Given the description of an element on the screen output the (x, y) to click on. 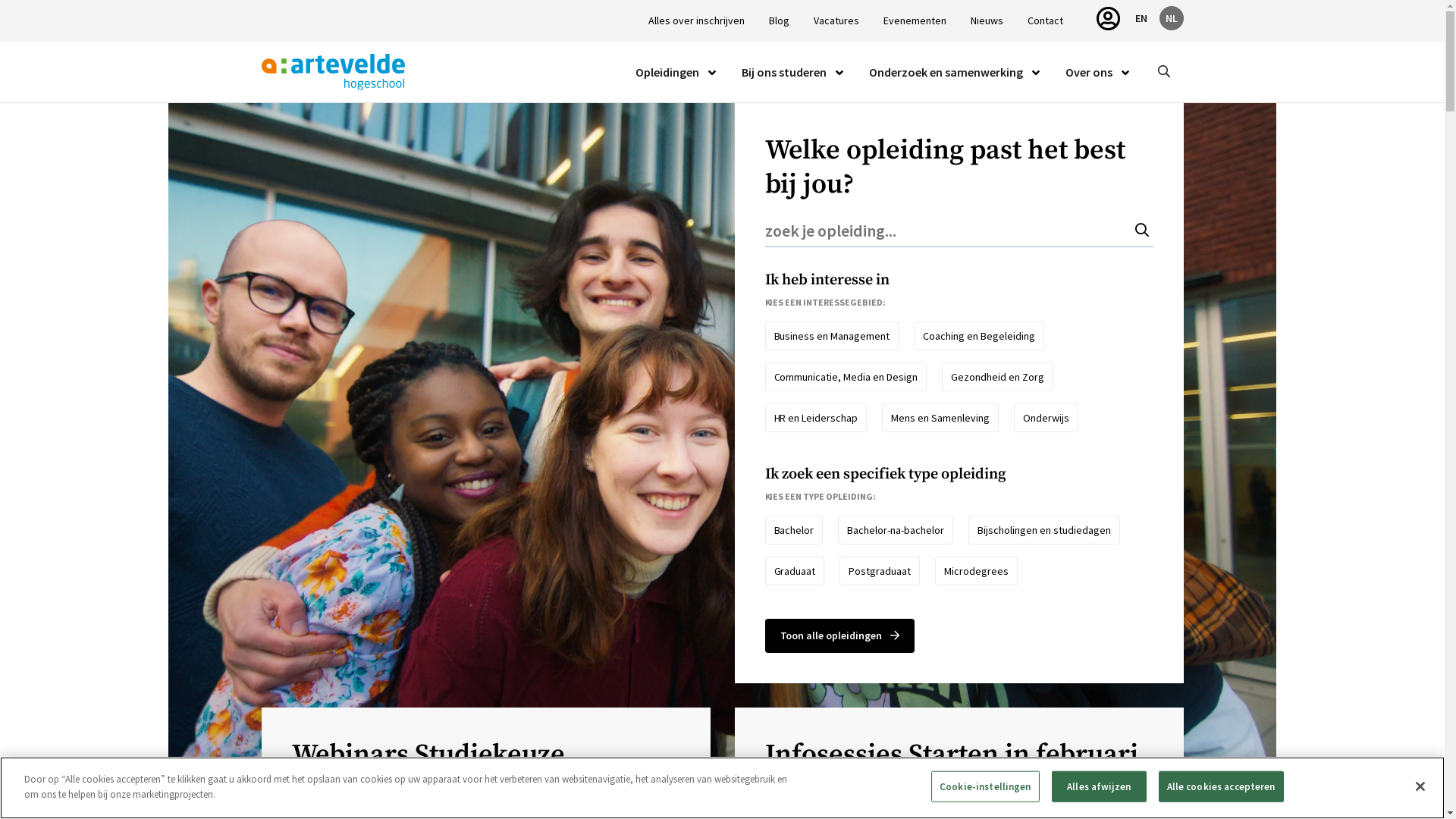
Zoeken Element type: text (1143, 230)
EN Element type: text (1140, 18)
Postgraduaat Element type: text (879, 570)
Business en Management Element type: text (831, 335)
Cookie-instellingen Element type: text (984, 787)
Bachelor-na-bachelor Element type: text (895, 529)
Onderwijs Element type: text (1045, 417)
zoek je opleiding... Element type: hover (958, 230)
Nieuws Element type: text (986, 20)
Bachelor Element type: text (793, 529)
Contact Element type: text (1044, 20)
Evenementen Element type: text (913, 20)
Keuzelijst Element type: text (839, 72)
Zoeken Element type: text (1162, 71)
Reset Element type: text (1134, 149)
Microdegrees Element type: text (976, 570)
Bijscholingen en studiedagen Element type: text (1044, 529)
Toon alle opleidingen Element type: text (839, 635)
Alles afwijzen Element type: text (1098, 787)
HR en Leiderschap Element type: text (815, 417)
Graduaat Element type: text (794, 570)
Mens en Samenleving Element type: text (939, 417)
NL Element type: text (1170, 18)
Infosessies Starten in februari Element type: text (958, 754)
Alles over inschrijven Element type: text (695, 20)
Alle cookies accepteren Element type: text (1220, 787)
Zoeken Element type: text (1158, 149)
Vacatures Element type: text (835, 20)
Keuzelijst Element type: text (711, 72)
Opleidingen Element type: text (667, 71)
Onderzoek en samenwerking Element type: text (945, 71)
Bij ons studeren Element type: text (783, 71)
Communicatie, Media en Design Element type: text (845, 376)
Over ons Element type: text (1087, 71)
Keuzelijst Element type: text (1124, 72)
Keuzelijst Element type: text (1034, 72)
Blog Element type: text (778, 20)
Gezondheid en Zorg Element type: text (997, 376)
Overslaan en naar de inhoud gaan Element type: text (0, 0)
Coaching en Begeleiding Element type: text (978, 335)
Webinars Studiekeuze Element type: text (485, 754)
